Given the description of an element on the screen output the (x, y) to click on. 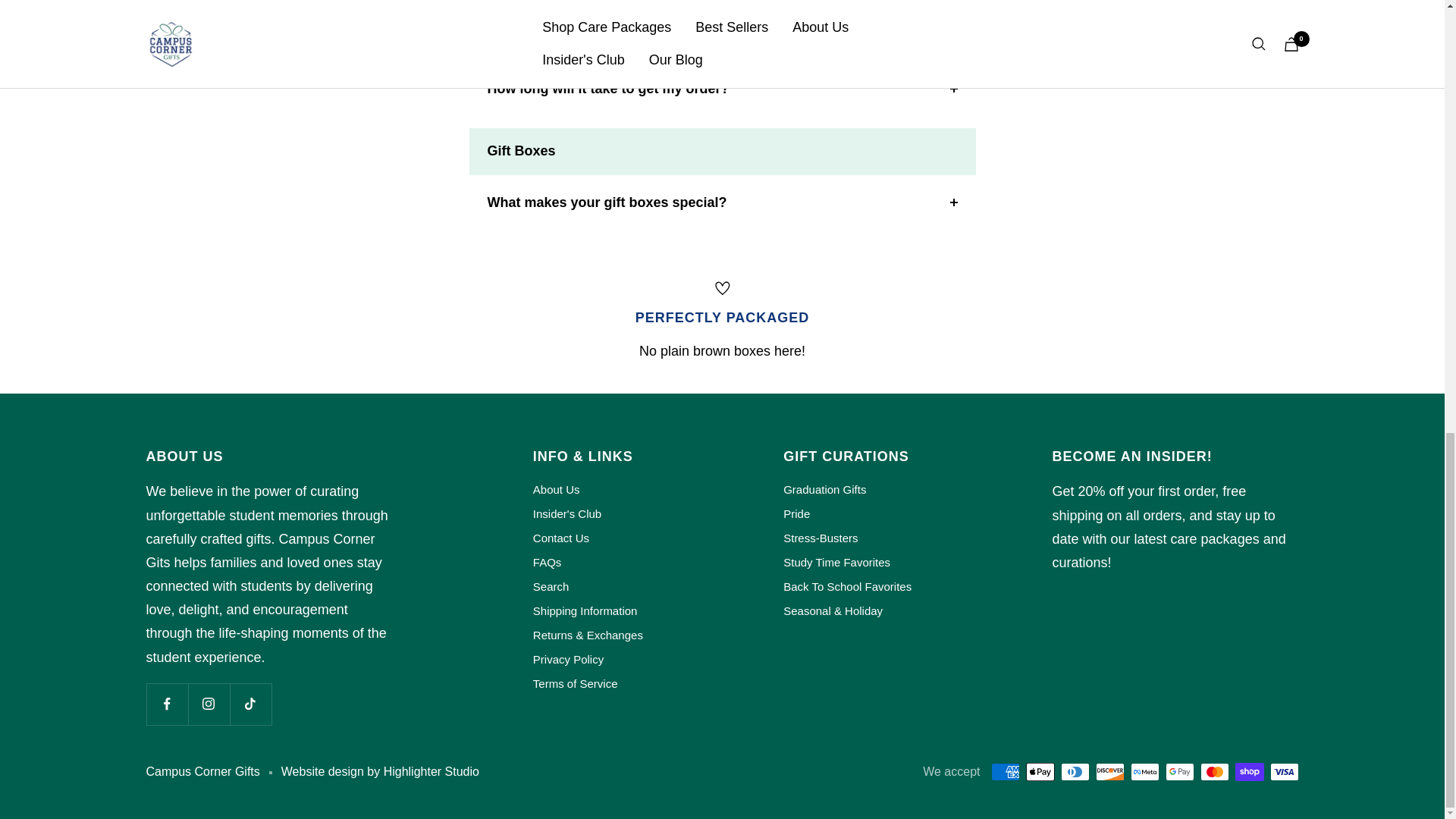
Do you ship to campus addresses? (721, 31)
FAQs (547, 562)
Shipping Information (584, 610)
Contact Us (560, 537)
About Us (555, 489)
Graduation Gifts (824, 489)
Insider's Club (566, 514)
Terms of Service (574, 683)
How long will it take to get my order? (721, 89)
